Given the description of an element on the screen output the (x, y) to click on. 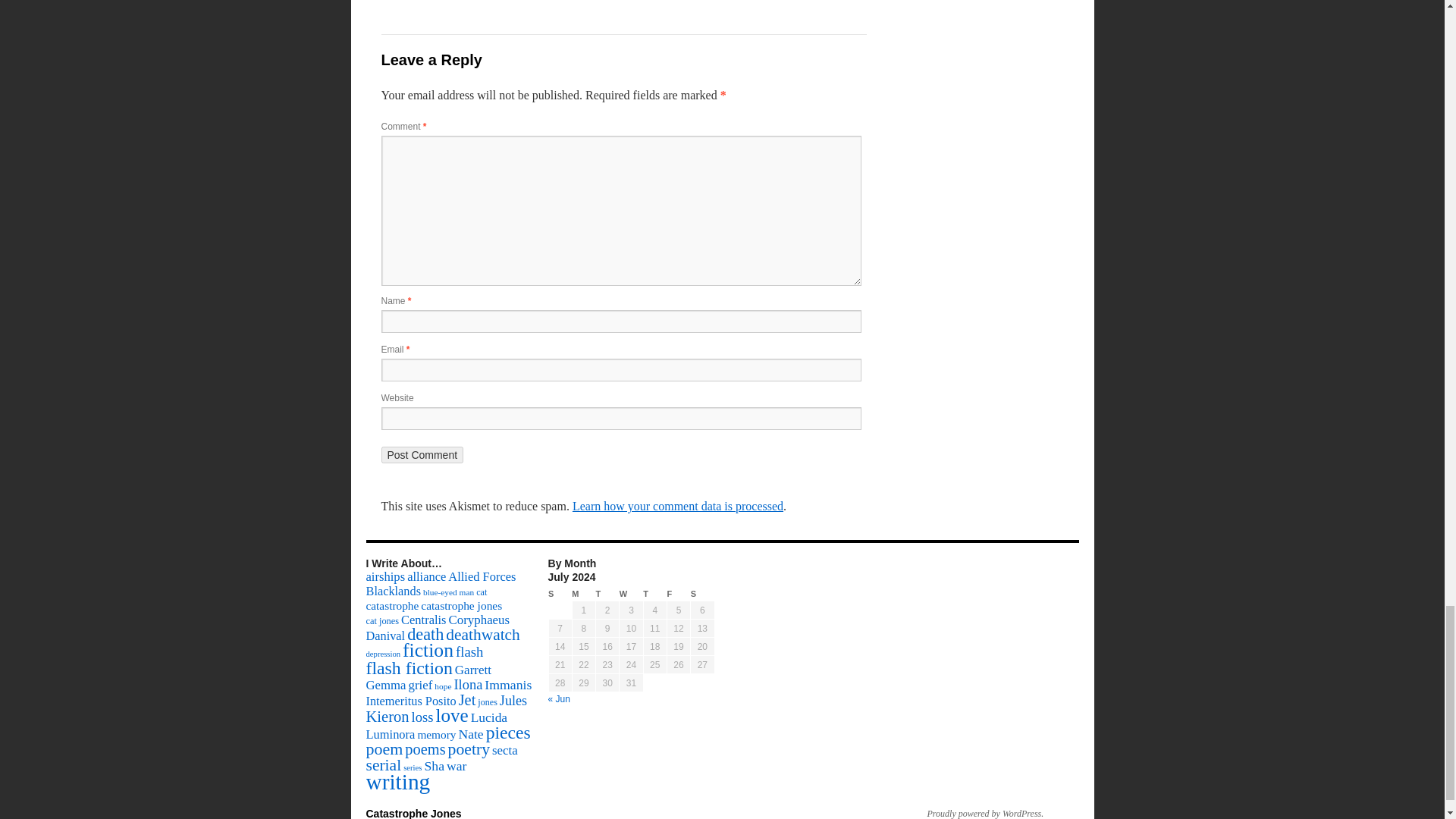
Sunday (560, 594)
Post Comment (421, 454)
